Given the description of an element on the screen output the (x, y) to click on. 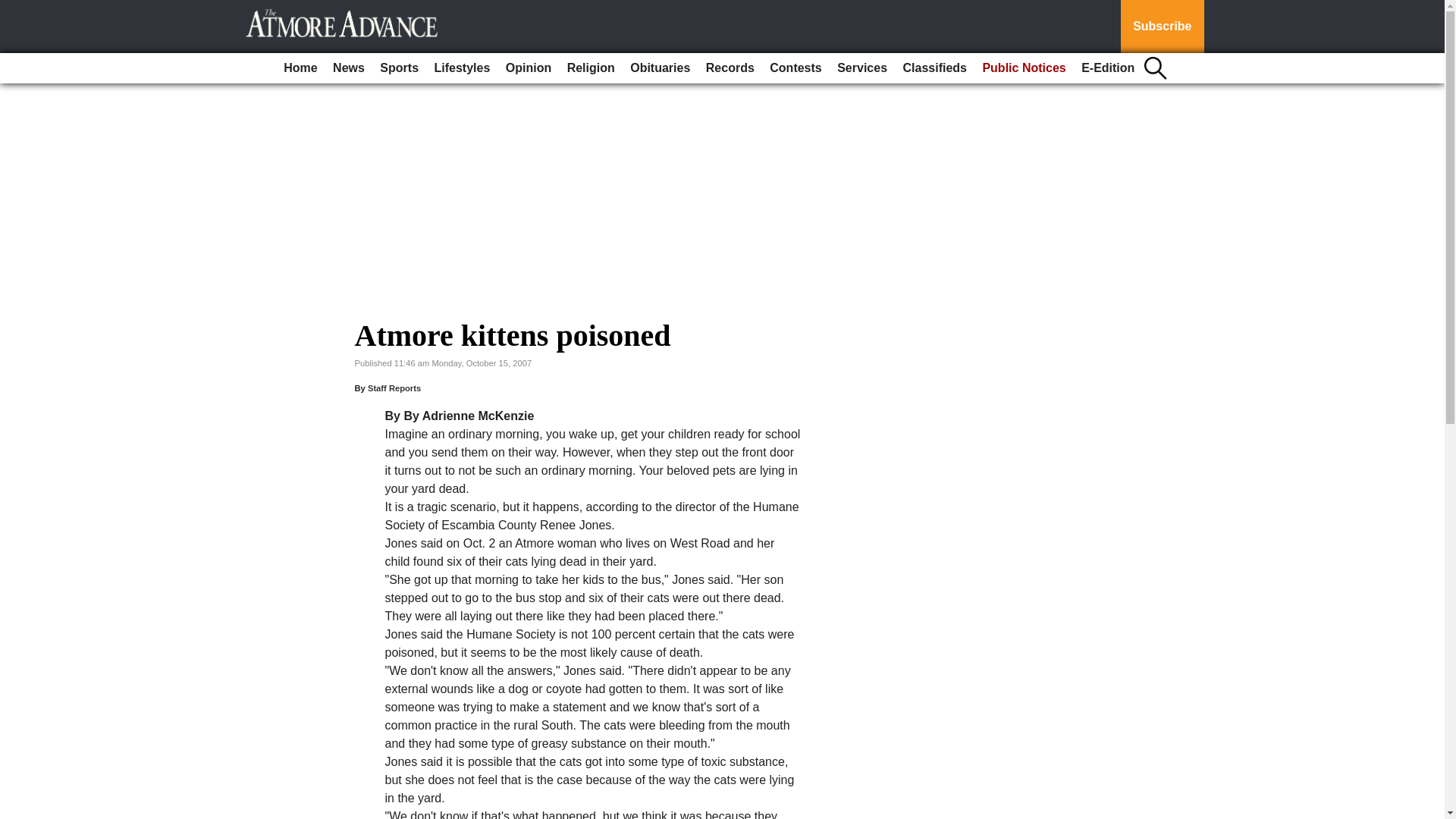
Opinion (528, 68)
Contests (794, 68)
Religion (590, 68)
Services (862, 68)
Records (730, 68)
Public Notices (1023, 68)
Subscribe (1162, 26)
Sports (399, 68)
Home (300, 68)
Staff Reports (394, 388)
